Given the description of an element on the screen output the (x, y) to click on. 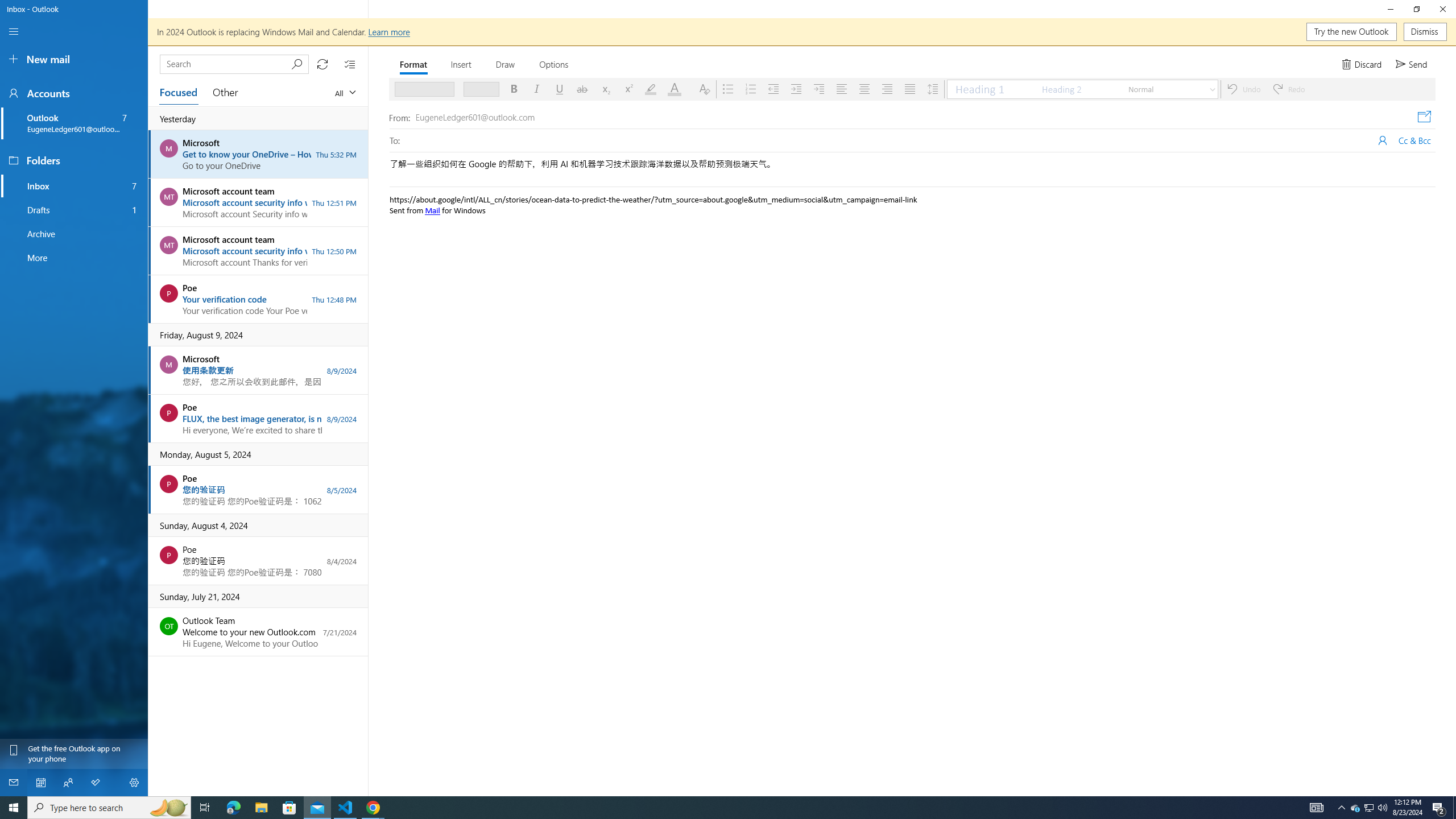
Clear Formatting (704, 88)
Format (413, 63)
Filter, All (344, 92)
Font Size (477, 88)
Outlook, EugeneLedger601@outlook.com, 7 unread (74, 123)
Styles (1212, 89)
Font Color (677, 88)
Strikethrough (582, 88)
Subject (912, 169)
Try the new Outlook (1351, 31)
Other (225, 91)
Send (1412, 63)
